Given the description of an element on the screen output the (x, y) to click on. 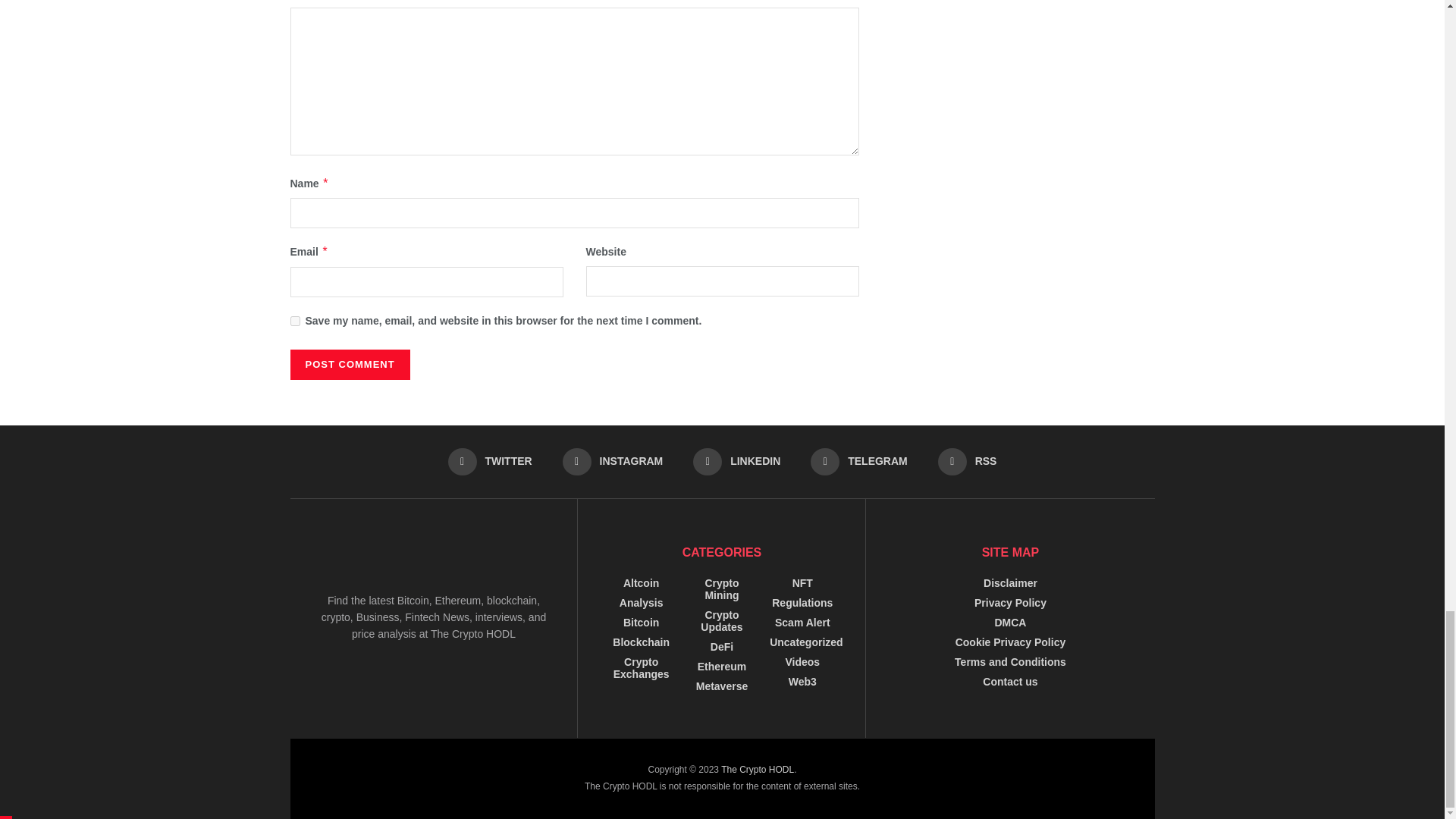
The Crypto HODL (756, 769)
yes (294, 320)
Post Comment (349, 364)
